Given the description of an element on the screen output the (x, y) to click on. 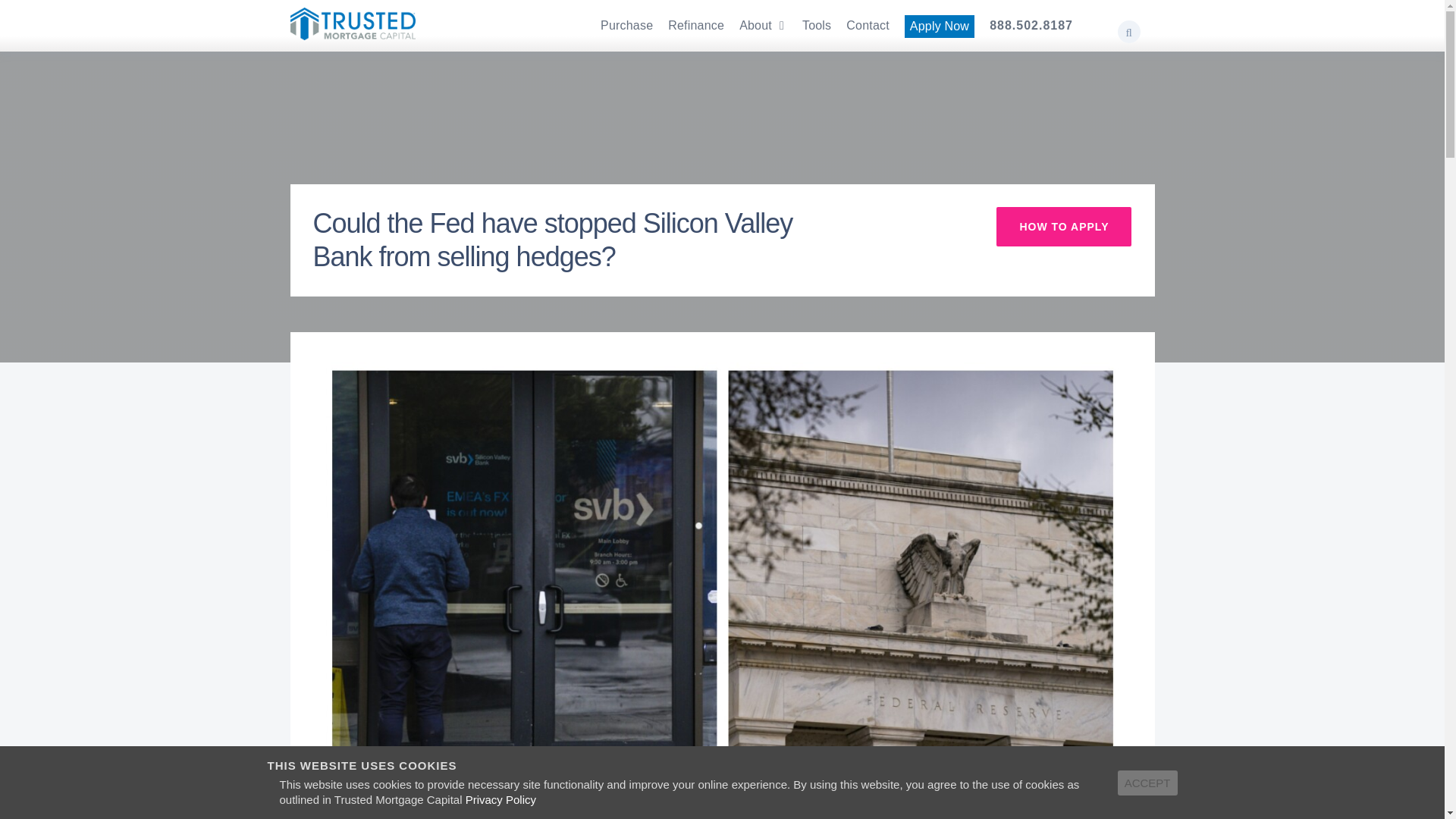
Tools (816, 25)
Purchase (626, 25)
About (763, 25)
Refinance (696, 25)
Contact (867, 25)
888.502.8187 (1030, 25)
HOW TO APPLY (1063, 226)
Apply Now (939, 26)
